Given the description of an element on the screen output the (x, y) to click on. 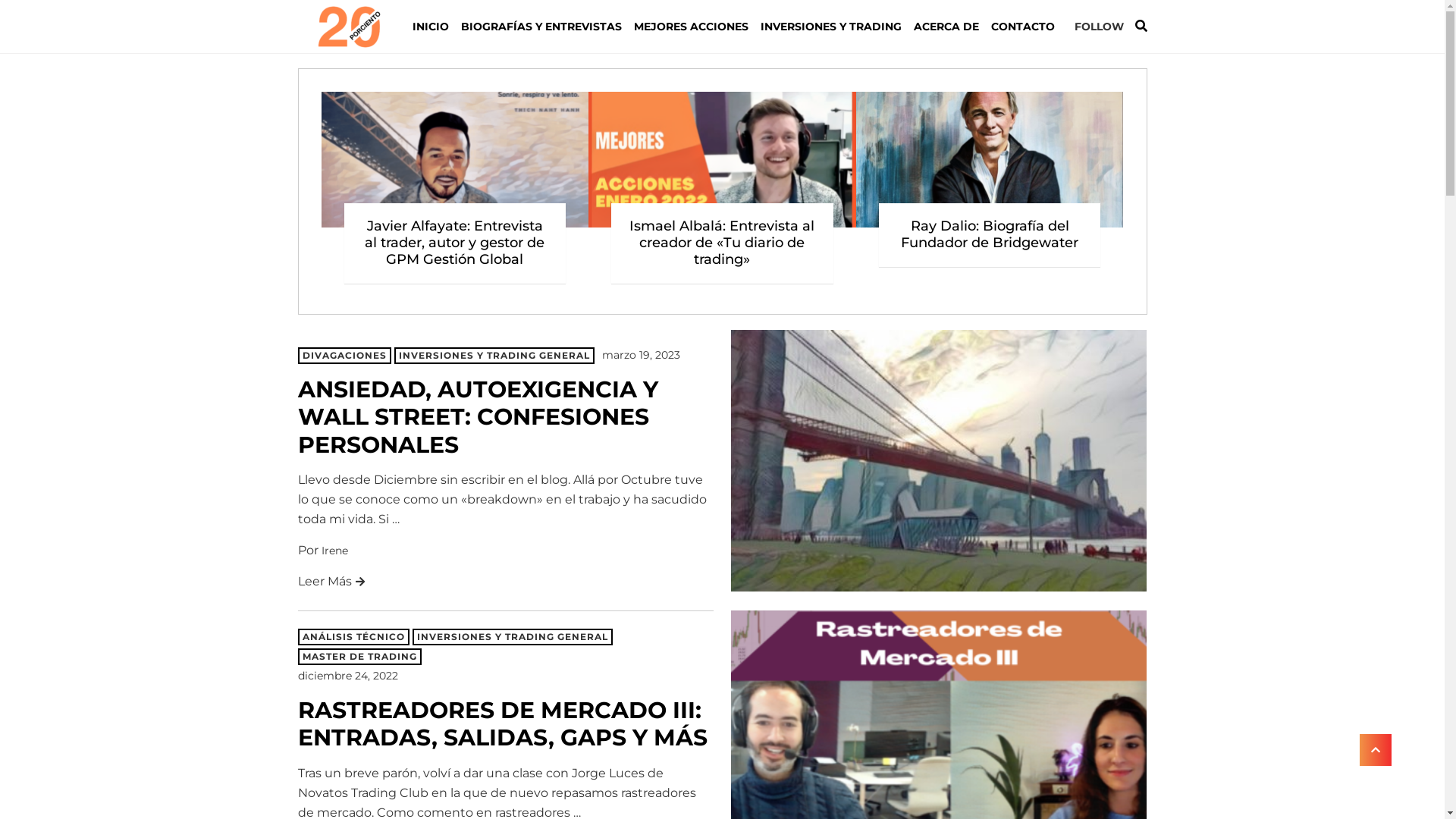
Irene Element type: text (334, 550)
INICIO Element type: text (433, 26)
CONTACTO Element type: text (1022, 26)
MEJORES ACCIONES Element type: text (690, 26)
diciembre 24, 2022 Element type: text (347, 675)
Skip to navigation Element type: text (297, 25)
DIVAGACIONES Element type: text (343, 355)
INVERSIONES Y TRADING GENERAL Element type: text (494, 355)
MASTER DE TRADING Element type: text (358, 656)
INVERSIONES Y TRADING Element type: text (829, 26)
ACERCA DE Element type: text (945, 26)
marzo 19, 2023 Element type: text (641, 354)
INVERSIONES Y TRADING GENERAL Element type: text (512, 636)
